Given the description of an element on the screen output the (x, y) to click on. 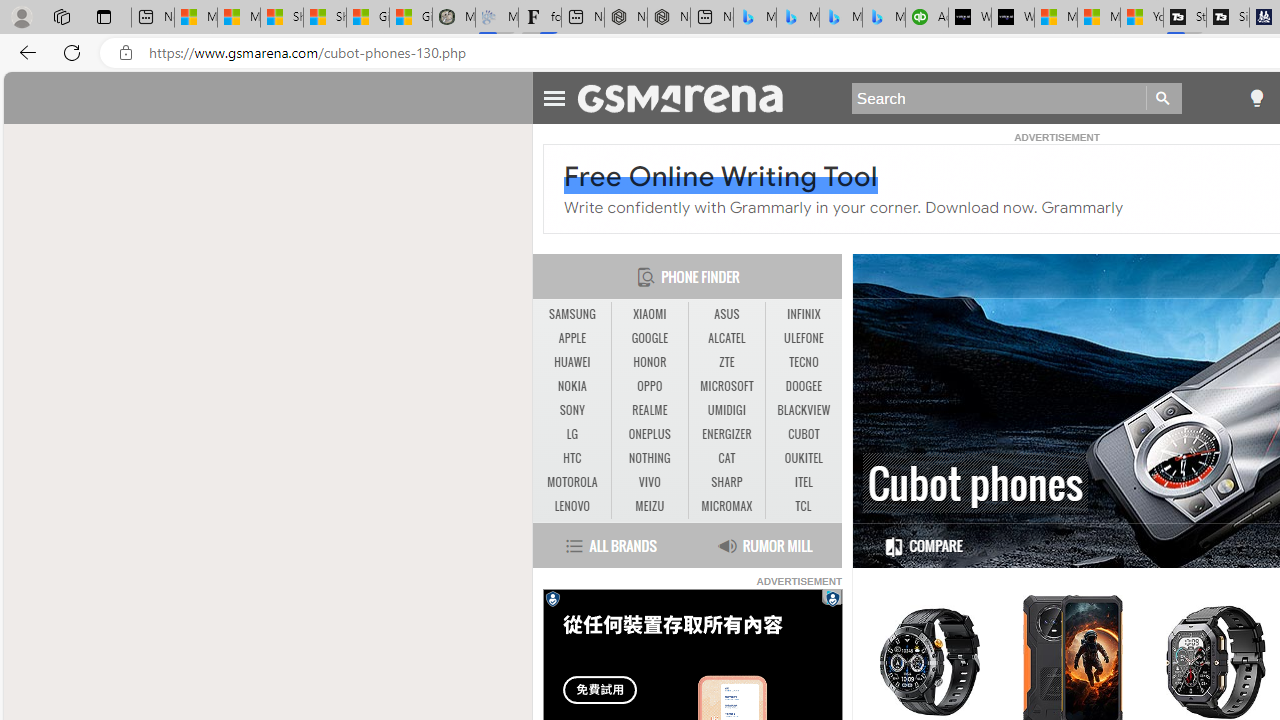
Microsoft Bing Travel - Stays in Bangkok, Bangkok, Thailand (798, 17)
MOTOROLA (571, 483)
HUAWEI (571, 362)
MICROMAX (726, 506)
OPPO (649, 385)
ASUS (726, 314)
INFINIX (803, 313)
Toggle Navigation (553, 95)
TECNO (803, 362)
SHARP (726, 483)
Class: qc-adchoices-link top-right  (832, 596)
MICROSOFT (726, 386)
Shanghai, China weather forecast | Microsoft Weather (324, 17)
Accounting Software for Accountants, CPAs and Bookkeepers (927, 17)
Streaming Coverage | T3 (1184, 17)
